Given the description of an element on the screen output the (x, y) to click on. 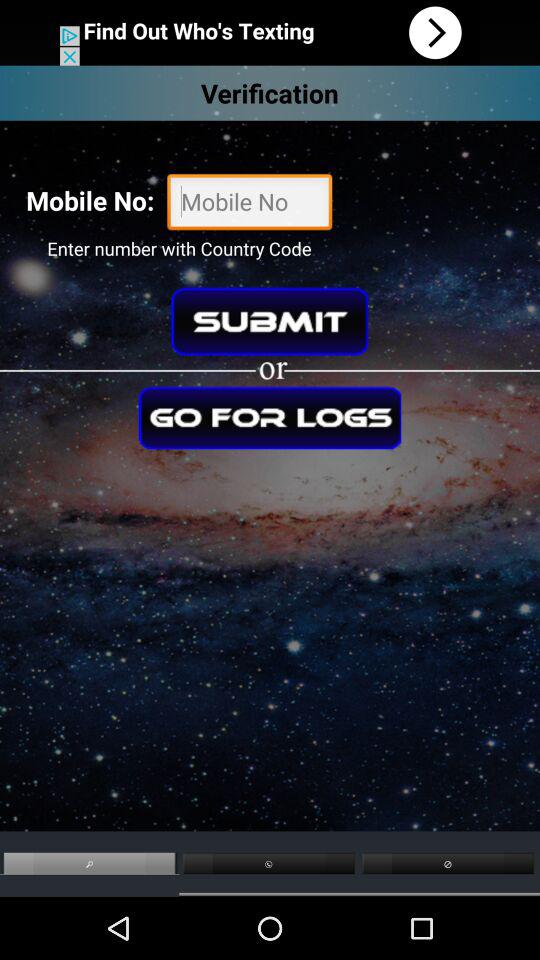
submit button (269, 321)
